Given the description of an element on the screen output the (x, y) to click on. 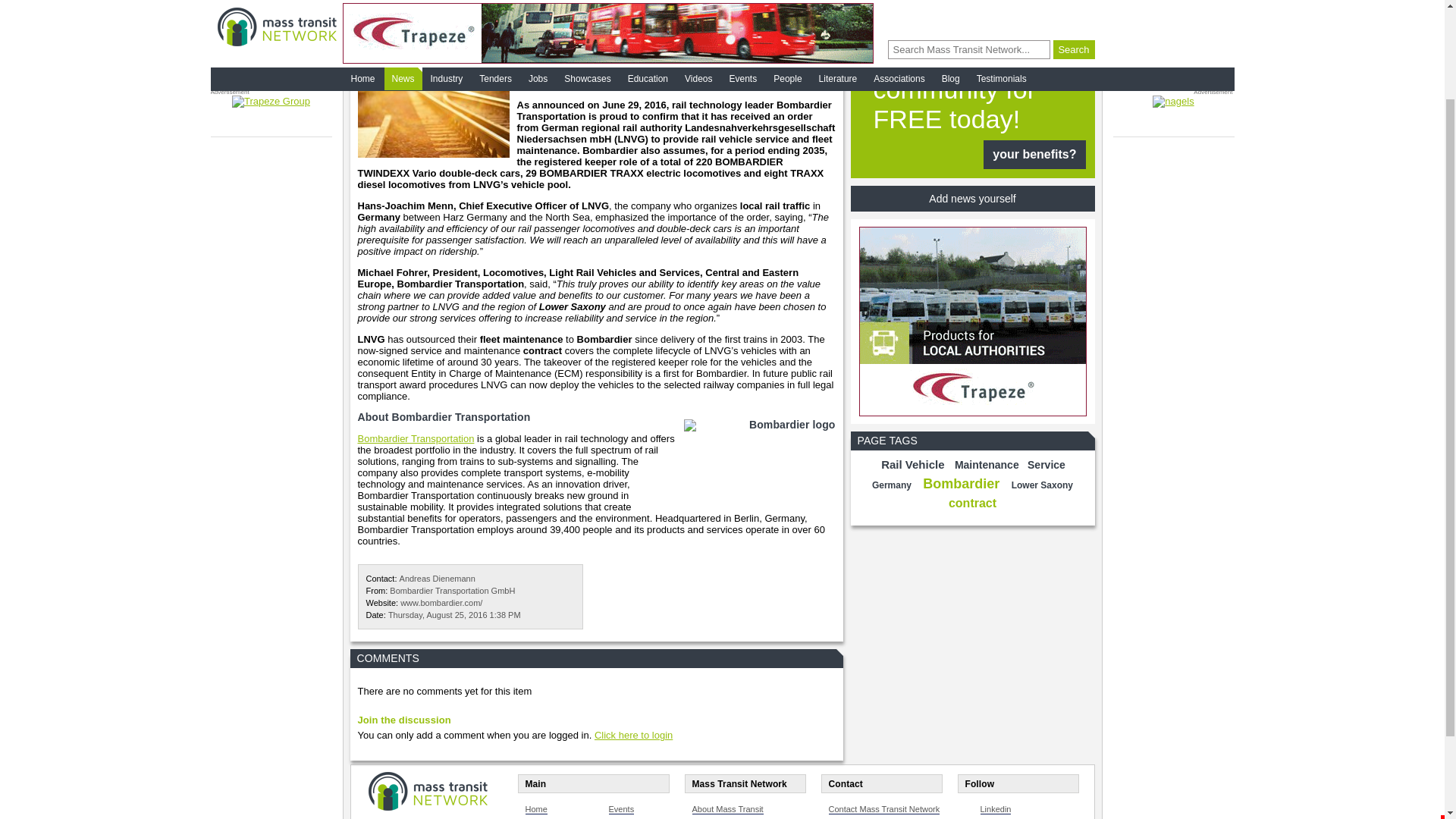
Register here (972, 106)
Sunny railway track (433, 107)
Home (535, 809)
Forgot your password? (901, 16)
Login (1072, 2)
Click here to login (633, 735)
Login (1072, 2)
Reset your password (901, 16)
Go to Bombardier info (416, 438)
Bombardier (961, 483)
Bombardier logo (756, 456)
Maintenance (987, 464)
Home (535, 809)
View website of Bombardier Transportation GmbH (440, 602)
View profile of Bombardier Transportation GmbH (452, 590)
